Given the description of an element on the screen output the (x, y) to click on. 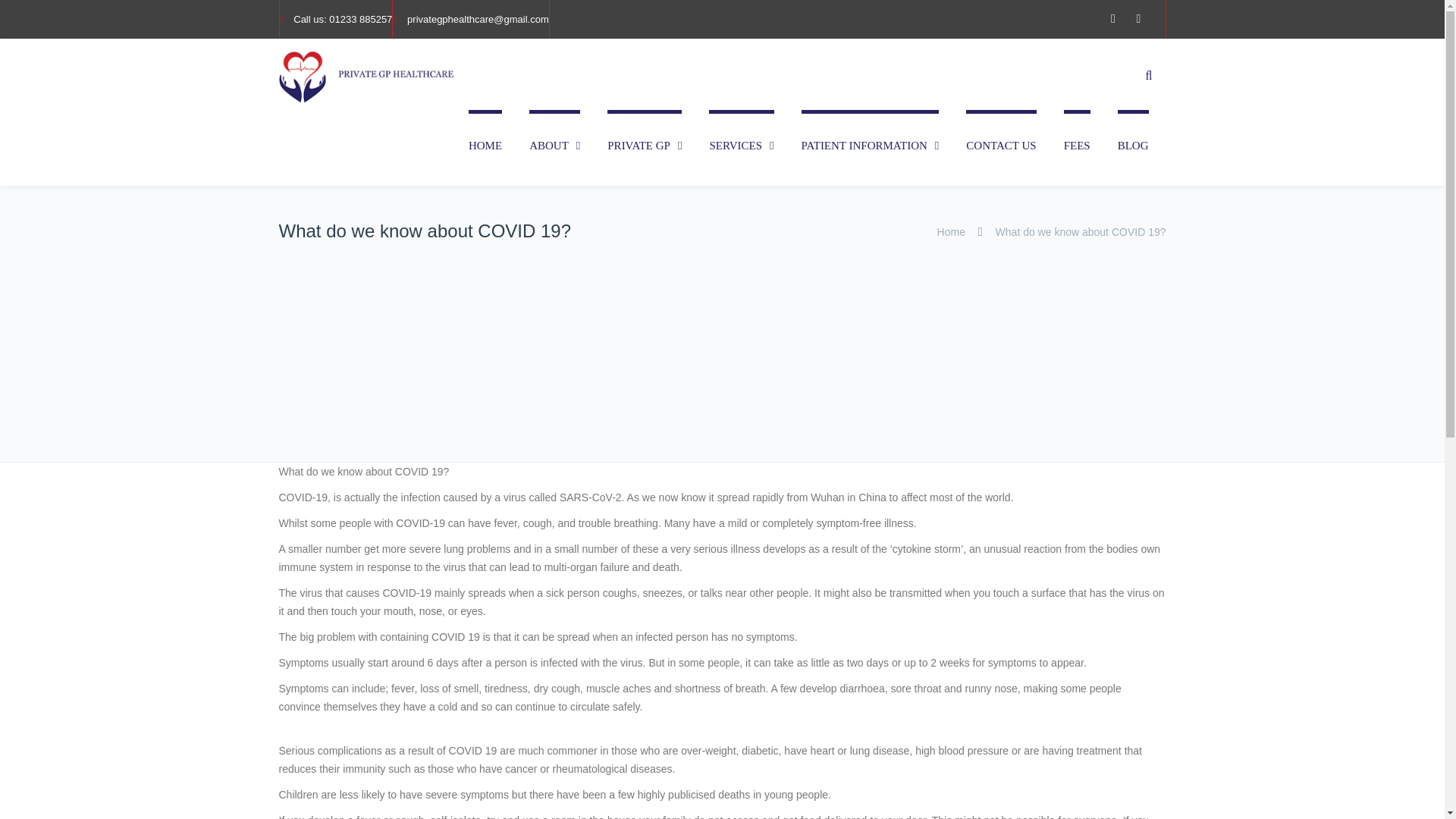
Private GP Healthcare (365, 77)
PRIVATE GP (644, 147)
Home (951, 232)
CONTACT US (1000, 147)
PATIENT INFORMATION (870, 147)
